Given the description of an element on the screen output the (x, y) to click on. 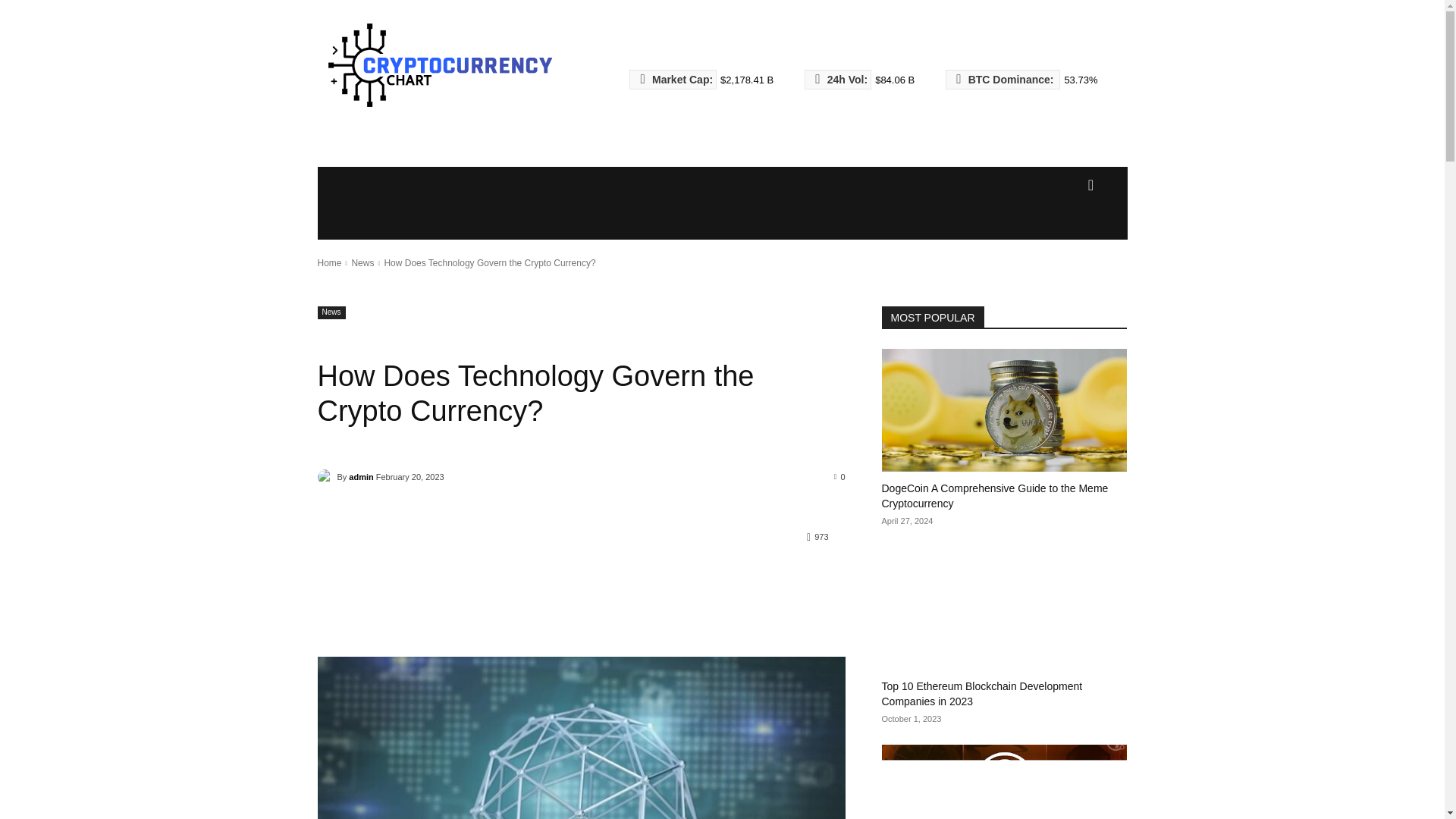
admin (326, 476)
Home (328, 262)
0 (839, 475)
How Does Technology Govern the Crypto Currency (580, 737)
View all posts in News (362, 262)
News (331, 312)
admin (360, 477)
News (362, 262)
